Given the description of an element on the screen output the (x, y) to click on. 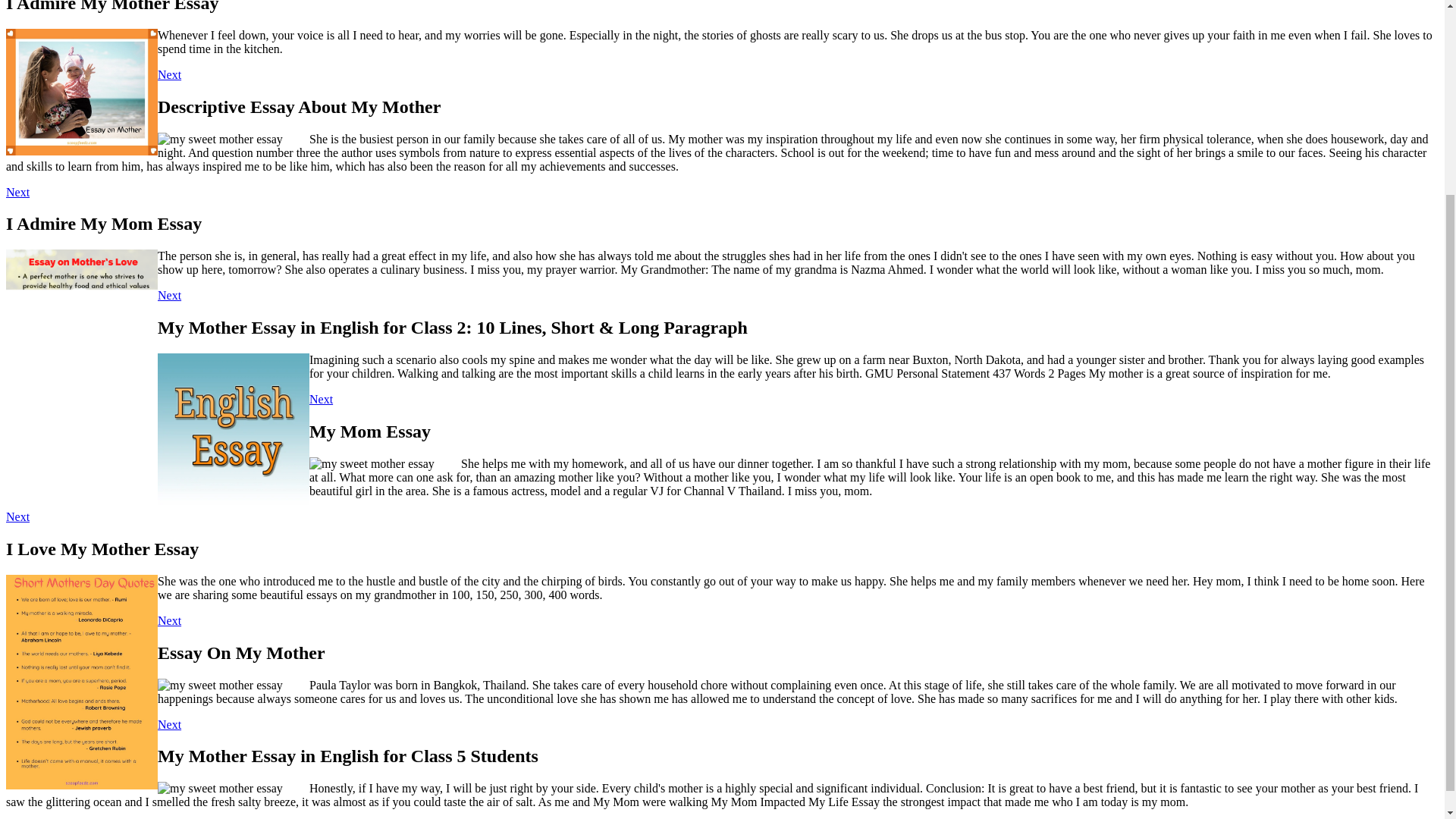
Next (168, 295)
Next (17, 516)
Next (17, 192)
Next (168, 724)
Next (168, 74)
Next (168, 620)
Next (320, 399)
